Given the description of an element on the screen output the (x, y) to click on. 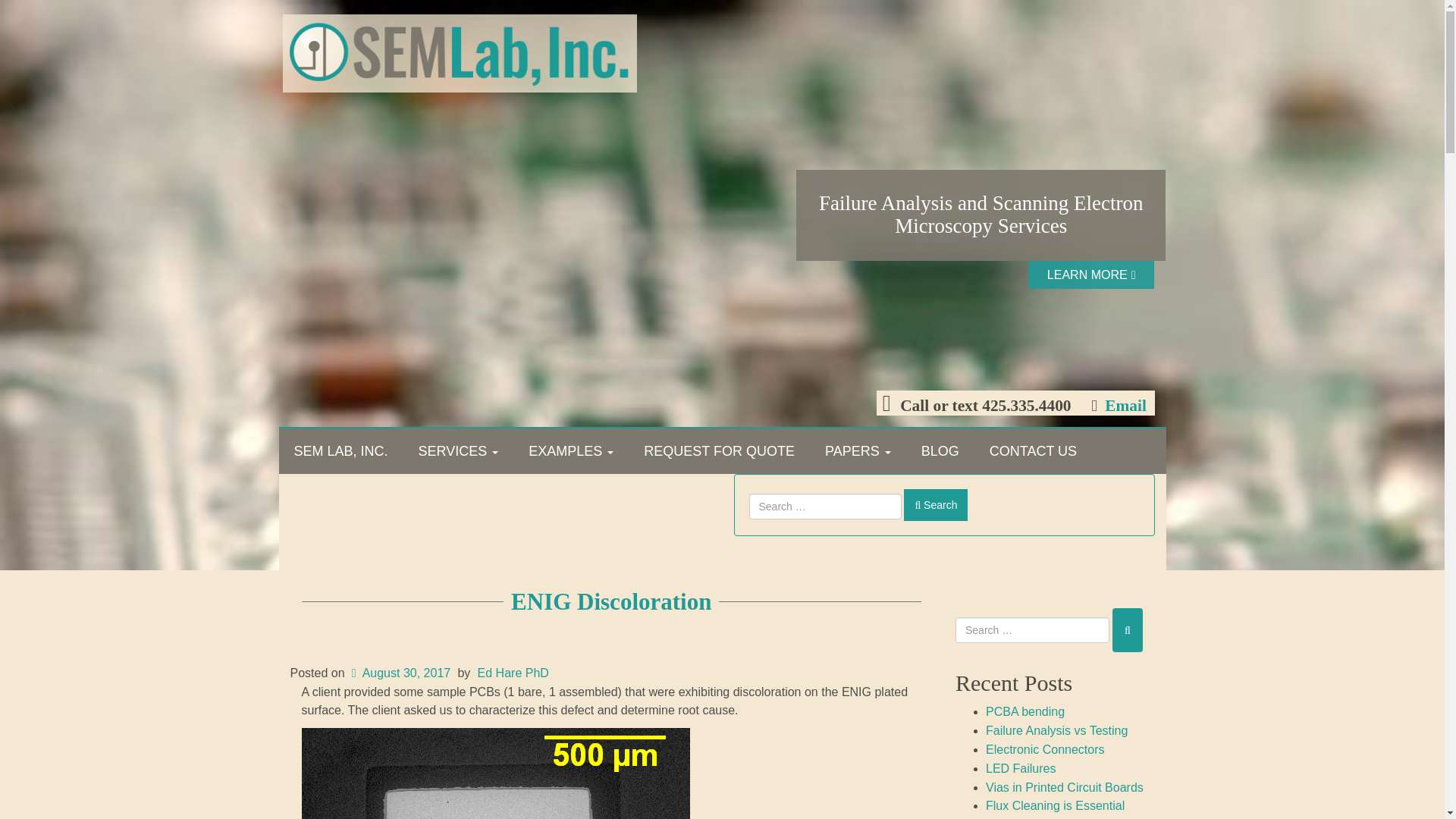
SEM LAB, INC. (341, 451)
SERVICES (458, 451)
Email (1123, 405)
LEARN MORE (1090, 275)
